Given the description of an element on the screen output the (x, y) to click on. 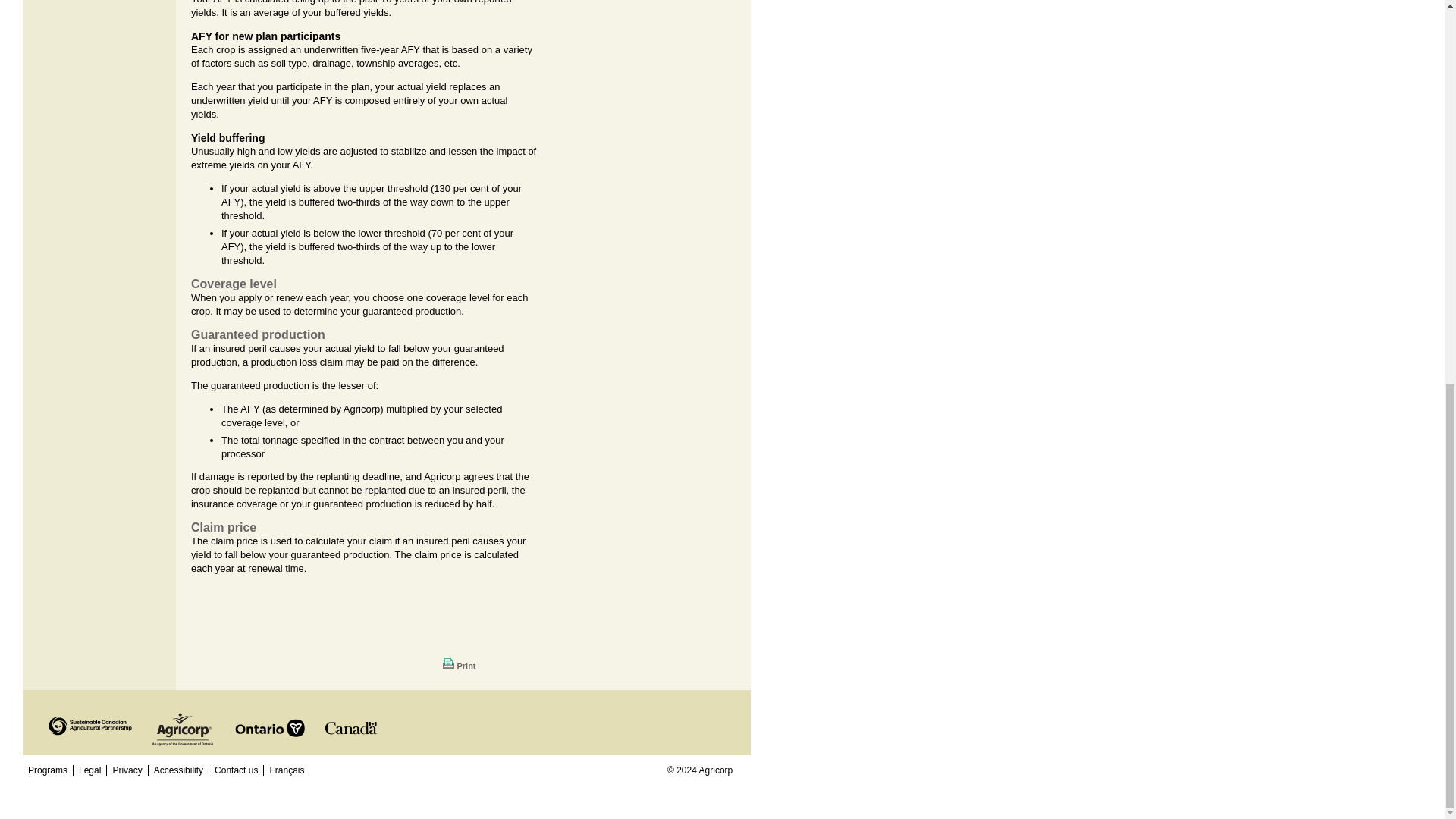
Privacy (126, 769)
Legal (89, 769)
Accessibility (178, 769)
Contact us (235, 769)
Print (459, 665)
Programs (46, 769)
